Given the description of an element on the screen output the (x, y) to click on. 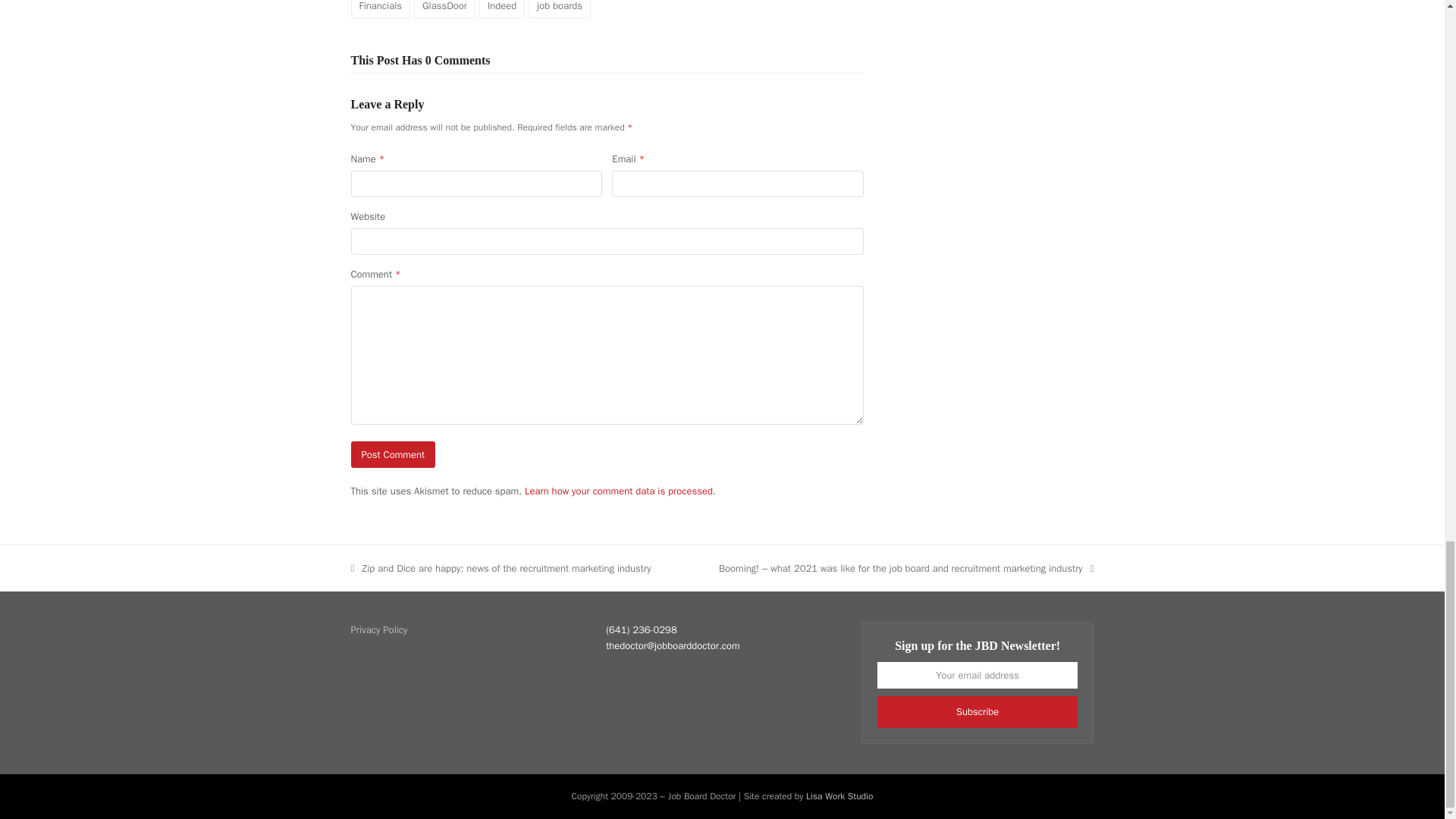
Post Comment (392, 454)
